Given the description of an element on the screen output the (x, y) to click on. 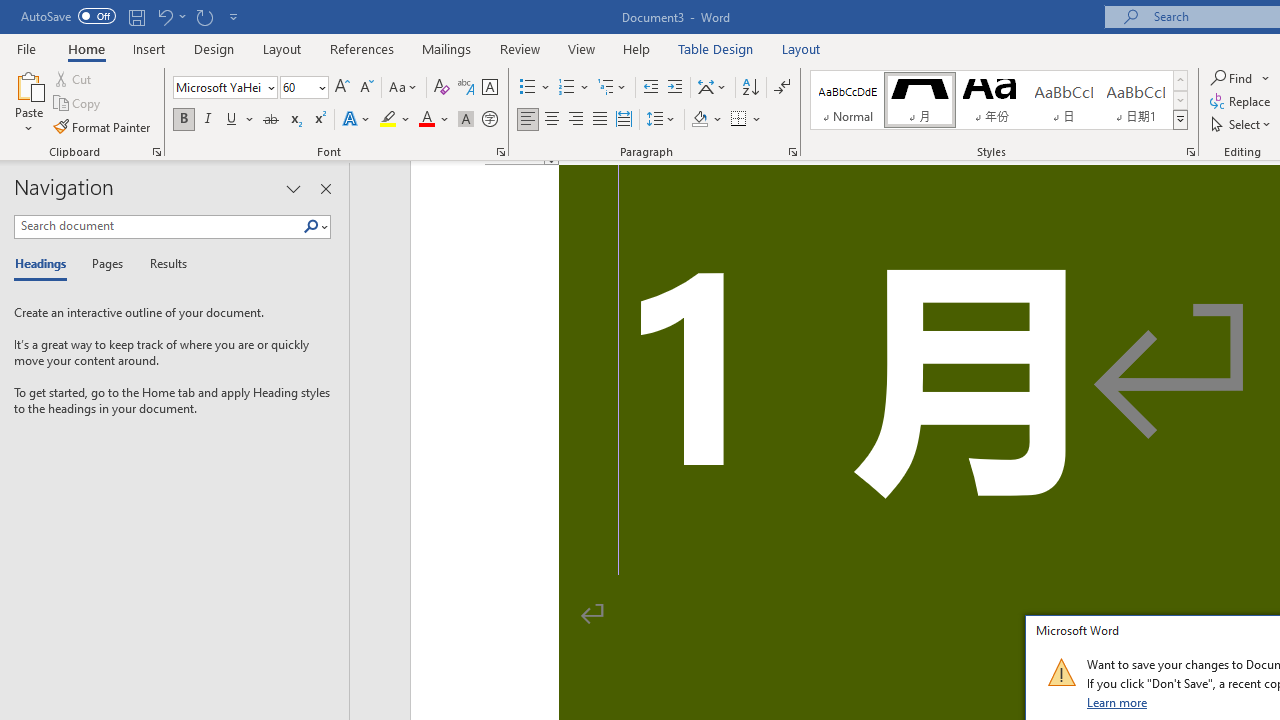
Undo Increase Indent (170, 15)
Align Right (575, 119)
Justify (599, 119)
Paragraph... (792, 151)
Font... (500, 151)
Headings (45, 264)
Bold (183, 119)
Superscript (319, 119)
Repeat Increase Indent (204, 15)
Subscript (294, 119)
